Given the description of an element on the screen output the (x, y) to click on. 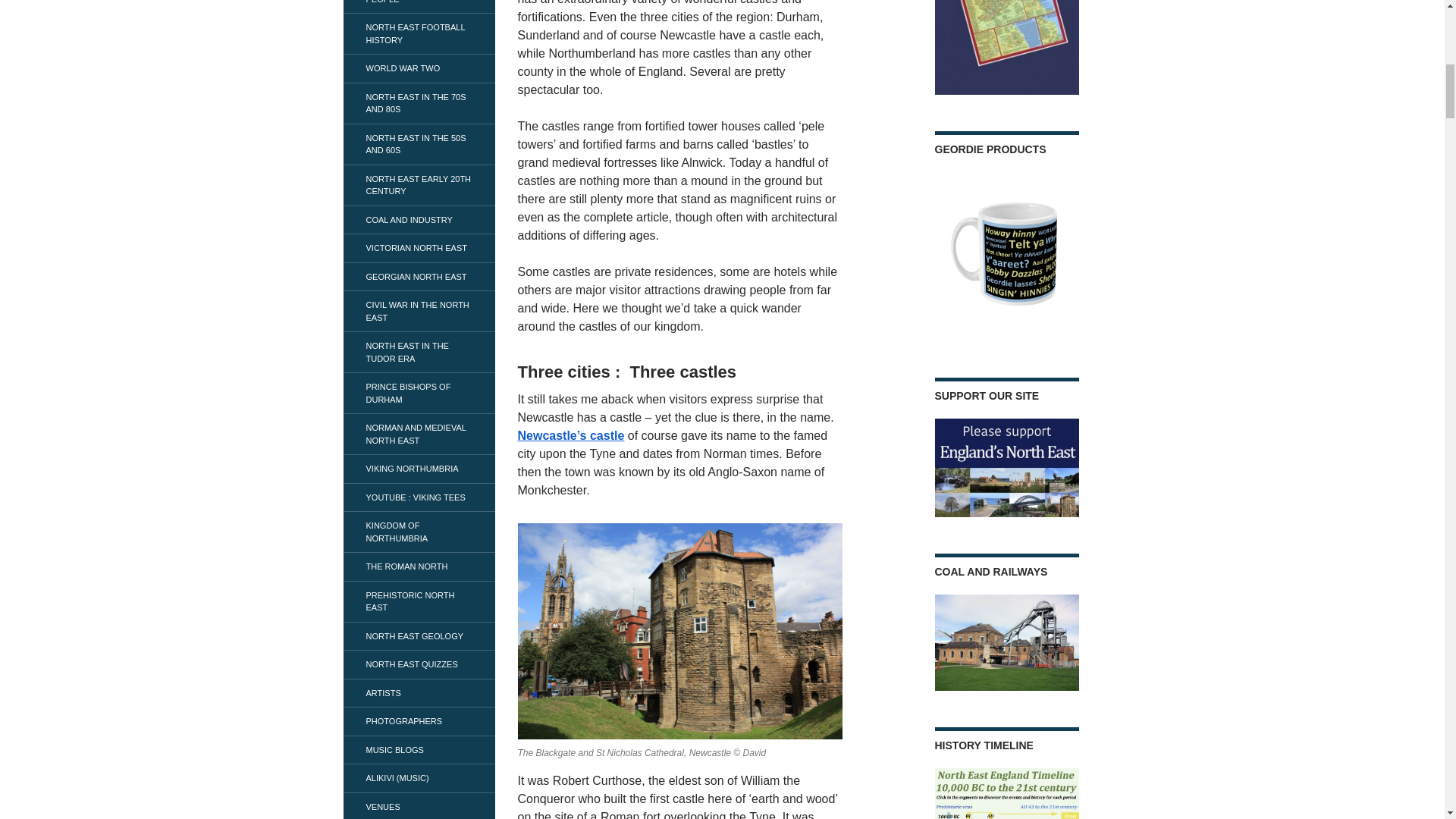
North East Collieries (1006, 47)
Geordie Mug (1006, 256)
